Given the description of an element on the screen output the (x, y) to click on. 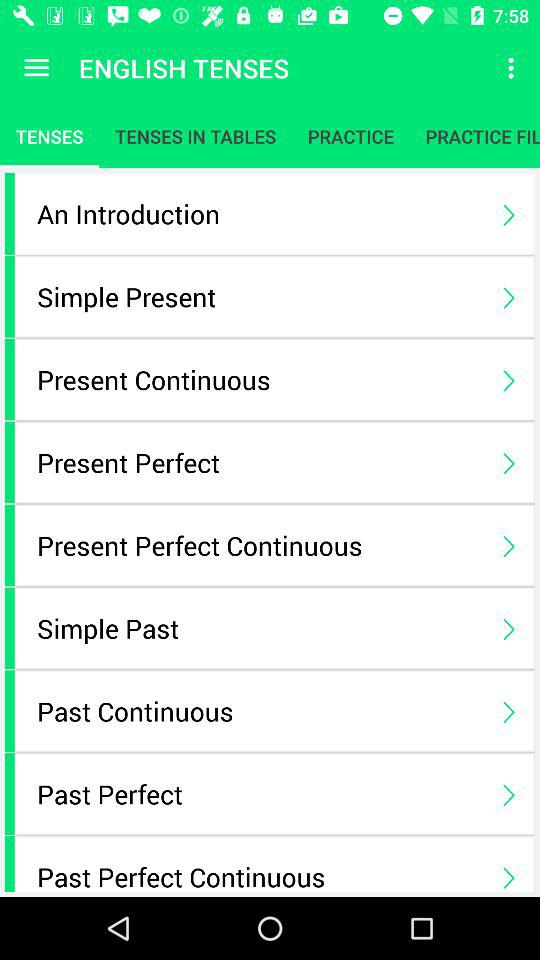
select the item below the present perfect continuous icon (259, 627)
